Given the description of an element on the screen output the (x, y) to click on. 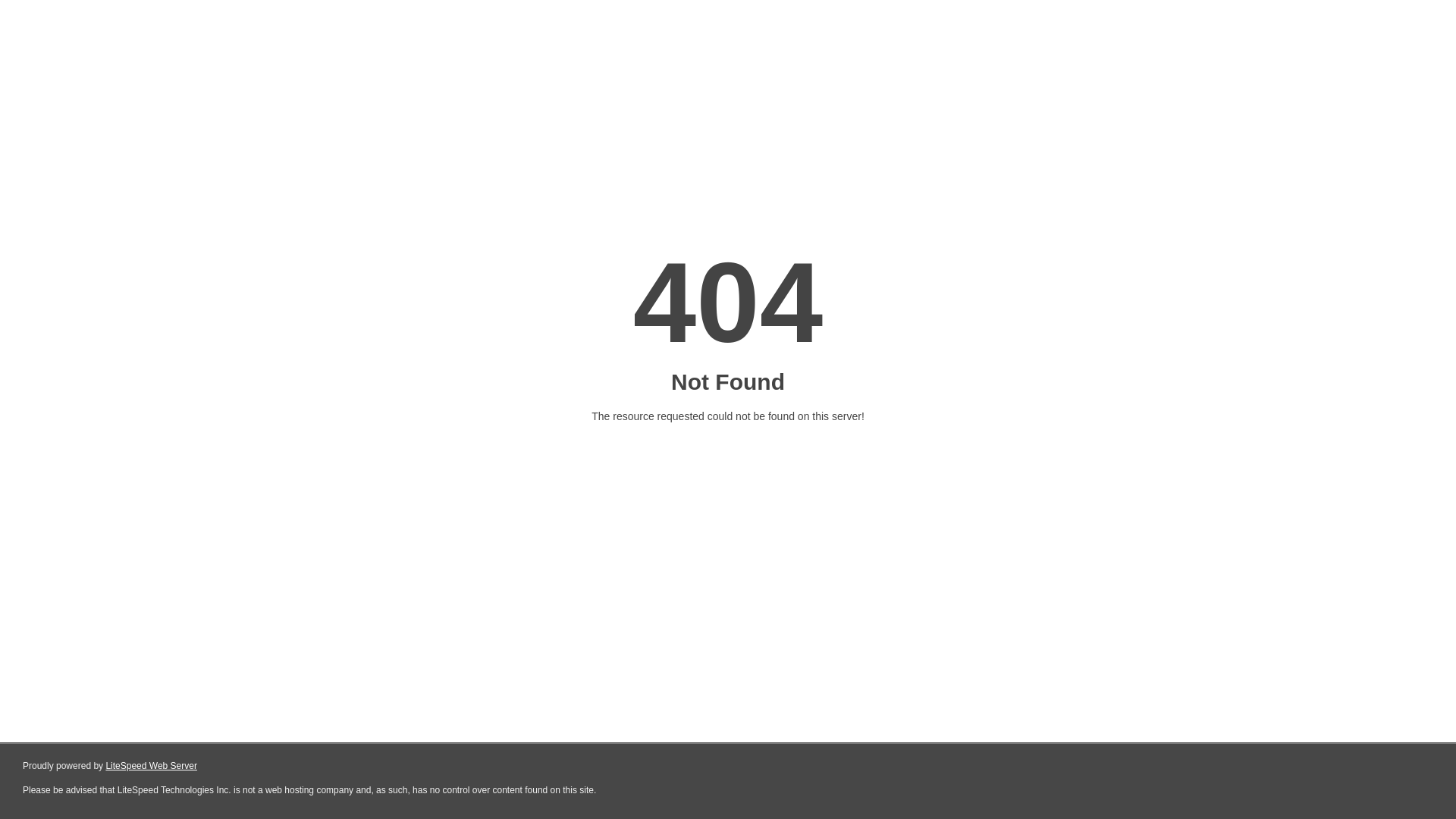
LiteSpeed Web Server Element type: text (151, 765)
